Given the description of an element on the screen output the (x, y) to click on. 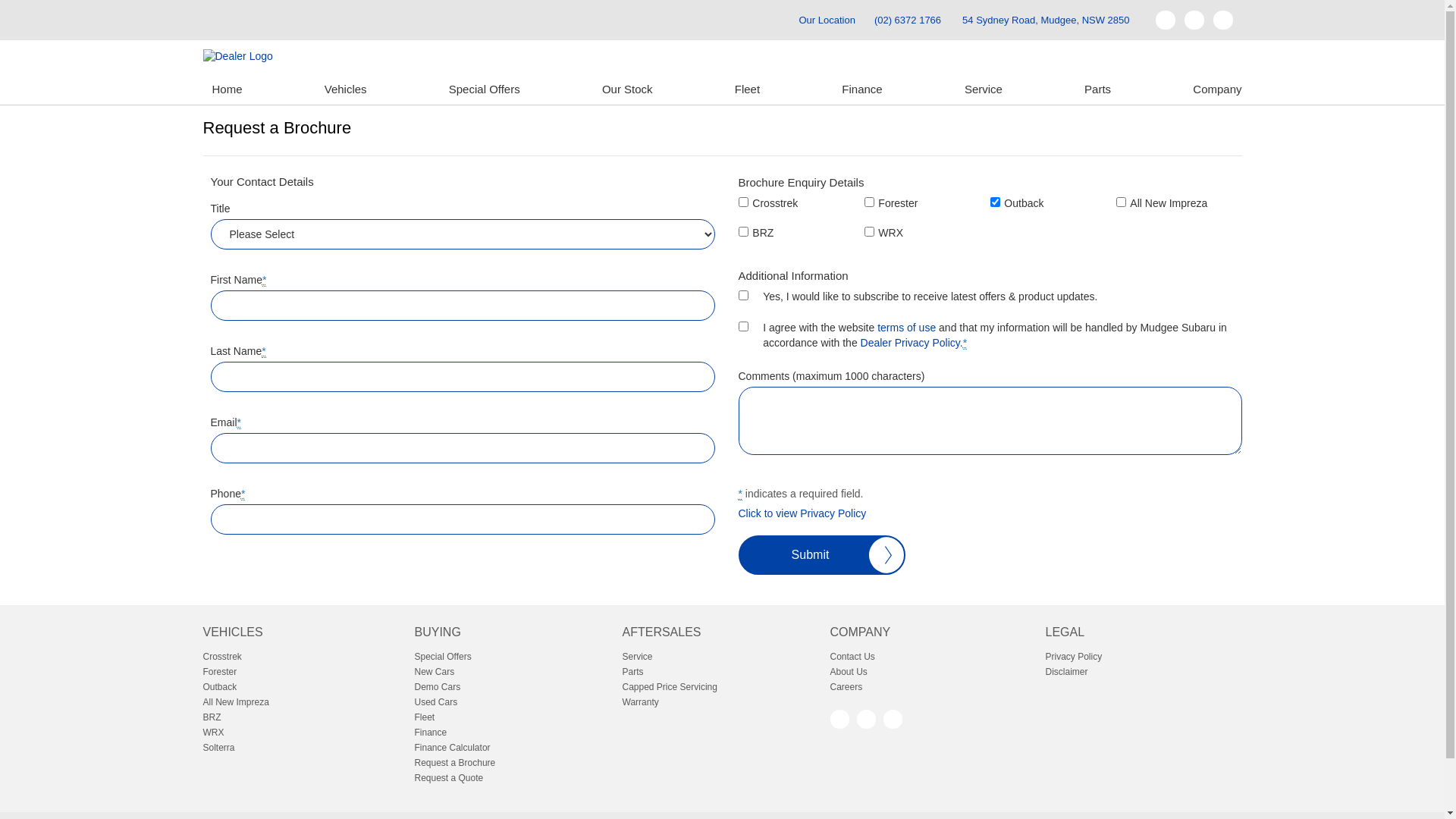
Crosstrek Element type: text (301, 656)
Vehicles Element type: text (345, 88)
BRZ Element type: text (301, 716)
Parts Element type: text (721, 671)
Capped Price Servicing Element type: text (721, 686)
Contact Us Element type: text (929, 656)
Submit Element type: text (821, 554)
Our Stock Element type: text (627, 88)
Careers Element type: text (929, 686)
Our Location Element type: text (819, 19)
GooglePlus Element type: text (865, 718)
Finance Element type: text (514, 732)
Facebook Element type: text (838, 718)
New Cars Element type: text (514, 671)
Instagram Element type: text (1223, 19)
Outback Element type: text (301, 686)
Facebook Element type: text (1165, 19)
Dealer Privacy Policy Element type: text (910, 342)
WRX Element type: text (301, 732)
About Us Element type: text (929, 671)
Privacy Policy Element type: text (1142, 656)
Used Cars Element type: text (514, 701)
Finance Calculator Element type: text (514, 747)
Service Element type: text (983, 88)
Forester Element type: text (301, 671)
Warranty Element type: text (721, 701)
Disclaimer Element type: text (1142, 671)
Solterra Element type: text (301, 747)
Parts Element type: text (1097, 88)
Request a Brochure Element type: text (514, 762)
Fleet Element type: text (746, 88)
Service Element type: text (721, 656)
Special Offers Element type: text (484, 88)
Click to view Privacy Policy Element type: text (802, 513)
Instagram Element type: text (891, 718)
Fleet Element type: text (514, 716)
Home Element type: text (227, 88)
54 Sydney Road, Mudgee, NSW 2850 Element type: text (1045, 19)
Company Element type: text (1212, 88)
Finance Element type: text (861, 88)
All New Impreza Element type: text (301, 701)
Special Offers Element type: text (514, 656)
terms of use Element type: text (906, 327)
Request a Quote Element type: text (514, 777)
(02) 6372 1766 Element type: text (907, 19)
Demo Cars Element type: text (514, 686)
GooglePlus Element type: text (1194, 19)
